Given the description of an element on the screen output the (x, y) to click on. 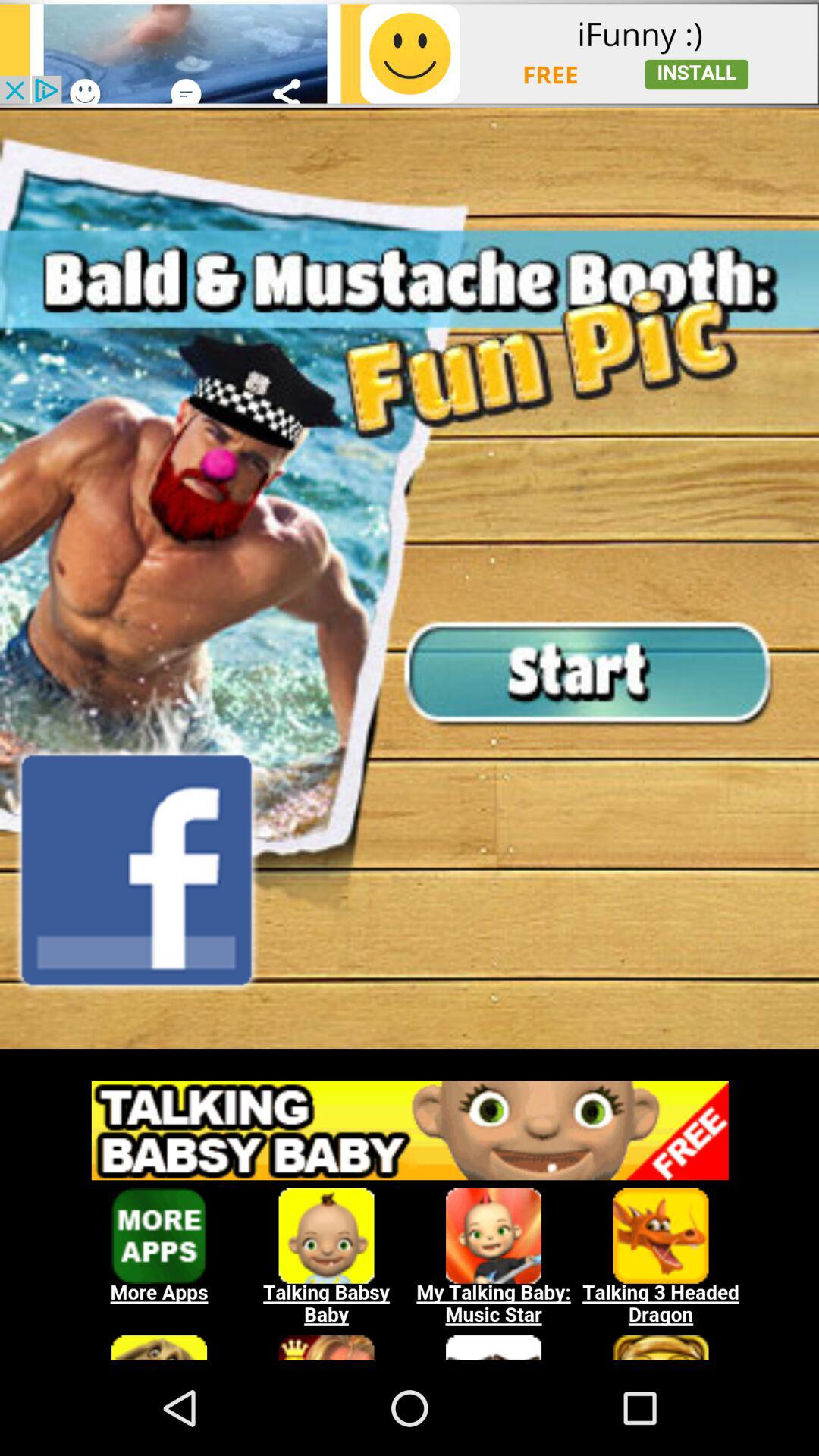
add page (409, 53)
